Given the description of an element on the screen output the (x, y) to click on. 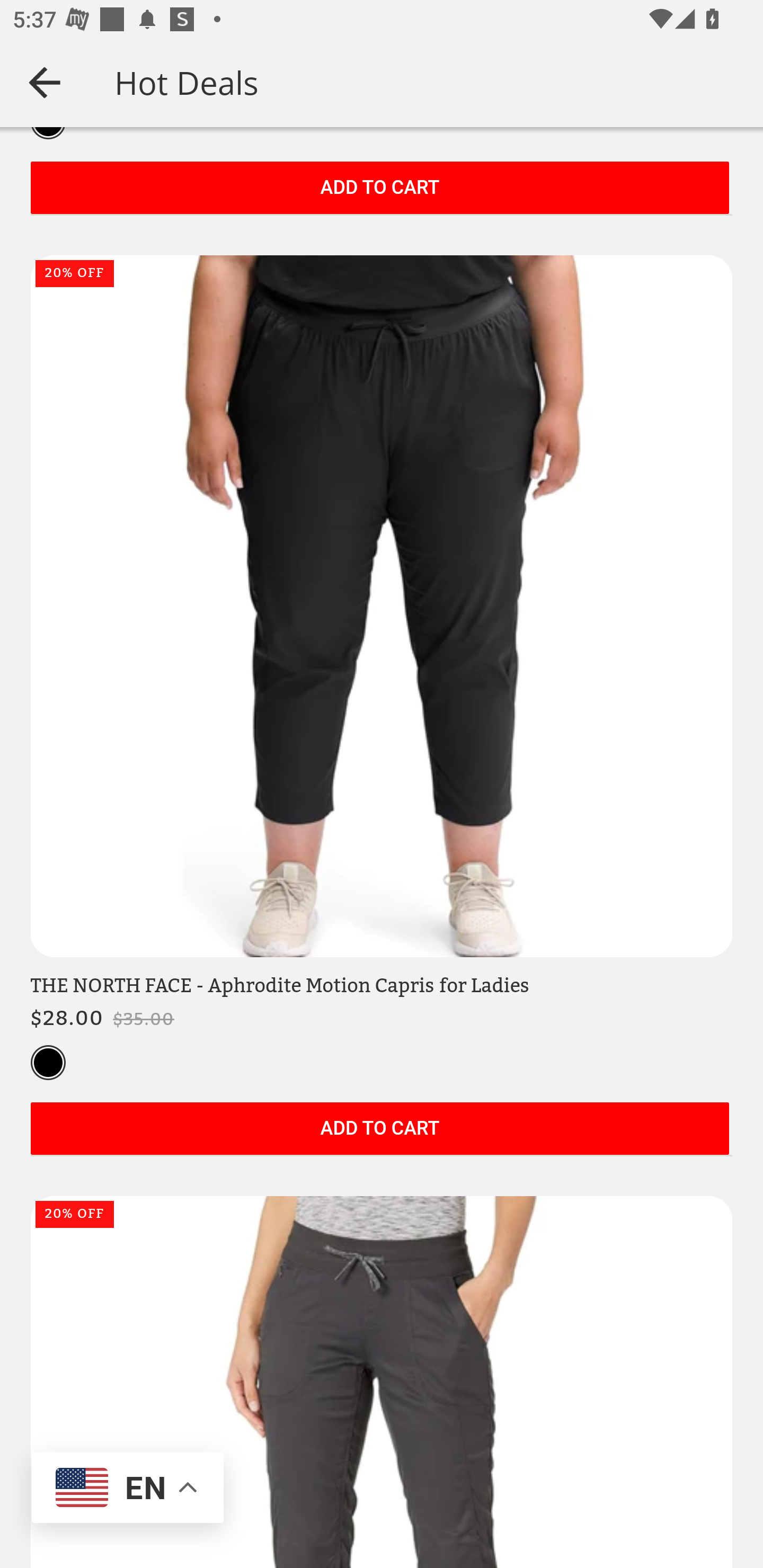
Navigate up (44, 82)
ADD TO CART (379, 188)
Black (48, 1063)
ADD TO CART (379, 1129)
